Given the description of an element on the screen output the (x, y) to click on. 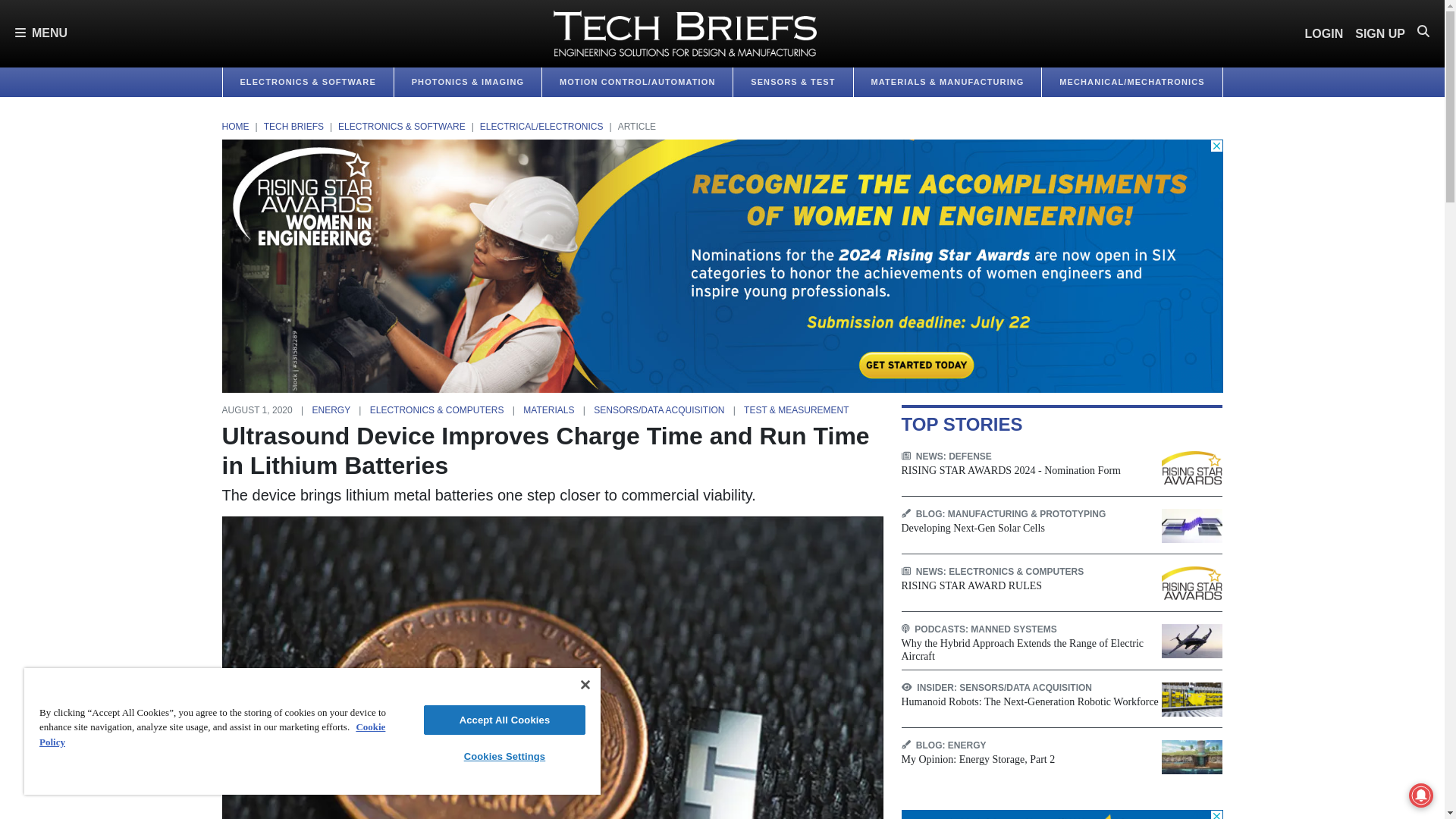
MENU (41, 33)
LOGIN (1323, 32)
3rd party ad content (1062, 814)
SIGN UP (1379, 32)
